Given the description of an element on the screen output the (x, y) to click on. 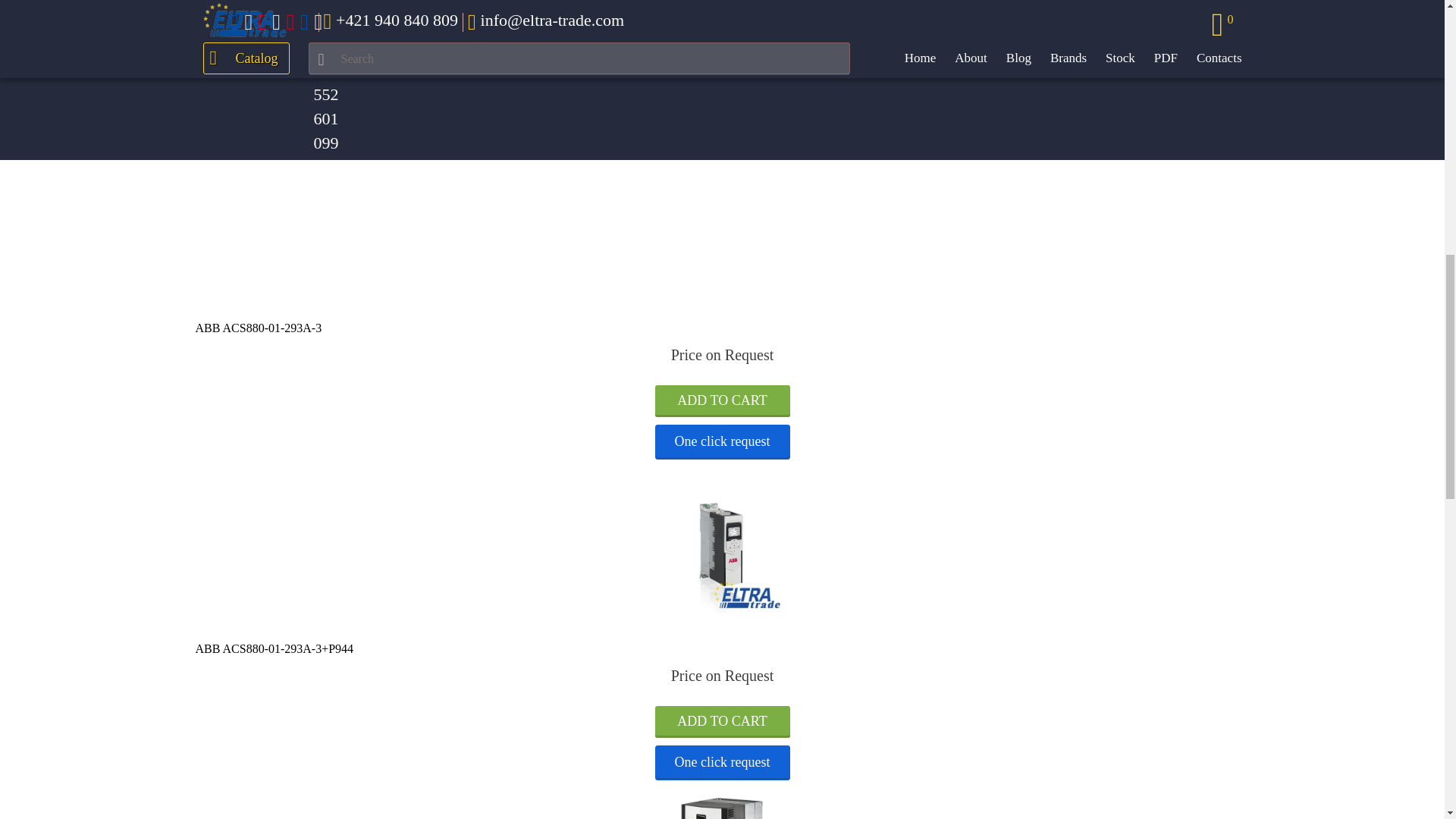
One click request (722, 762)
Add to cart (722, 721)
ABB ACS880-01-293A-3 (258, 327)
Add to cart (722, 400)
Add to cart (722, 400)
One click request (722, 442)
Add to cart (722, 721)
